Given the description of an element on the screen output the (x, y) to click on. 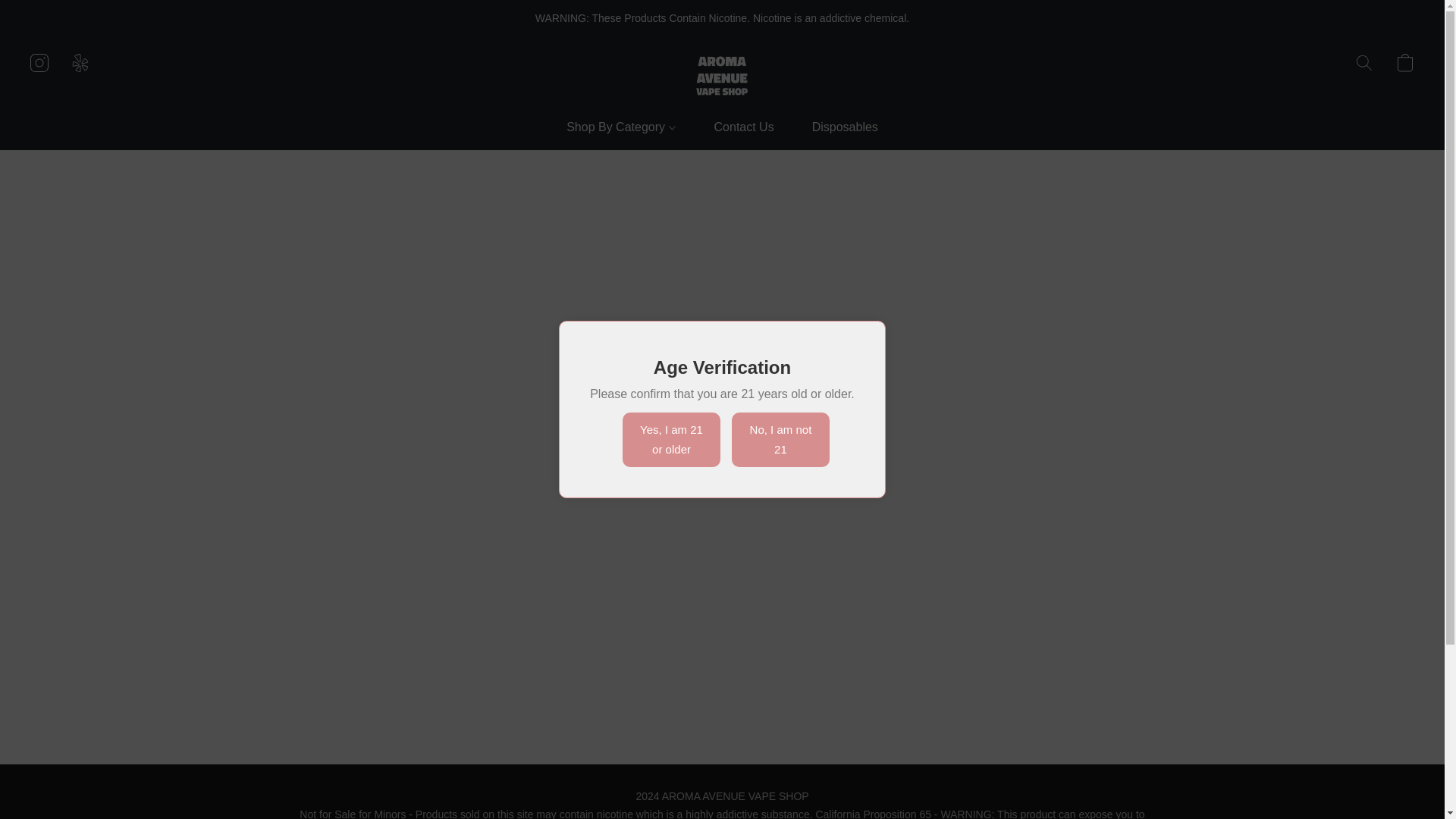
Shop By Category (630, 127)
No, I am not 21 (780, 439)
Go to your shopping cart (1404, 62)
Contact Us (744, 127)
Yes, I am 21 or older (671, 439)
Search the website (1363, 62)
Disposables (835, 127)
